Given the description of an element on the screen output the (x, y) to click on. 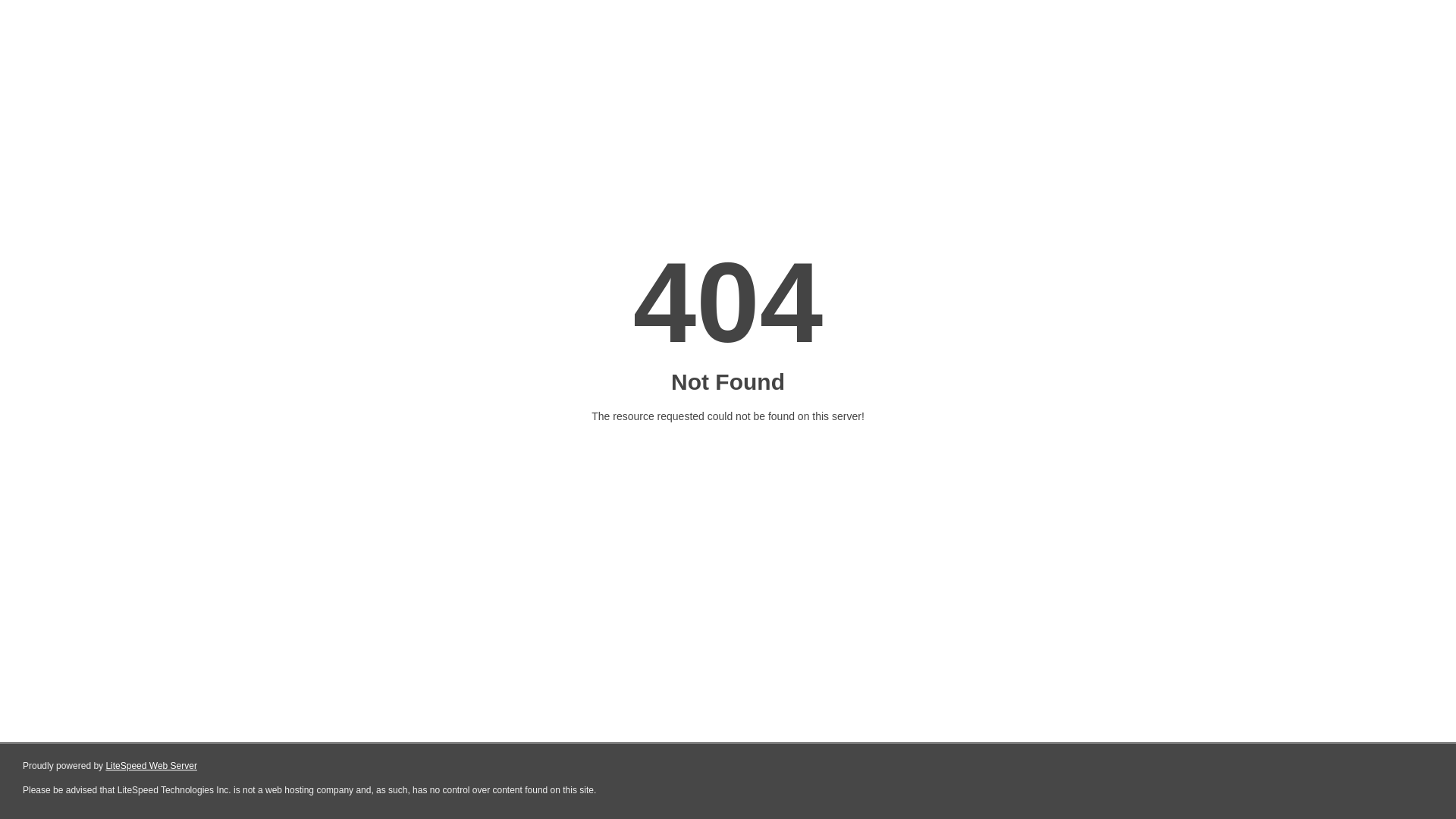
LiteSpeed Web Server Element type: text (151, 765)
